Given the description of an element on the screen output the (x, y) to click on. 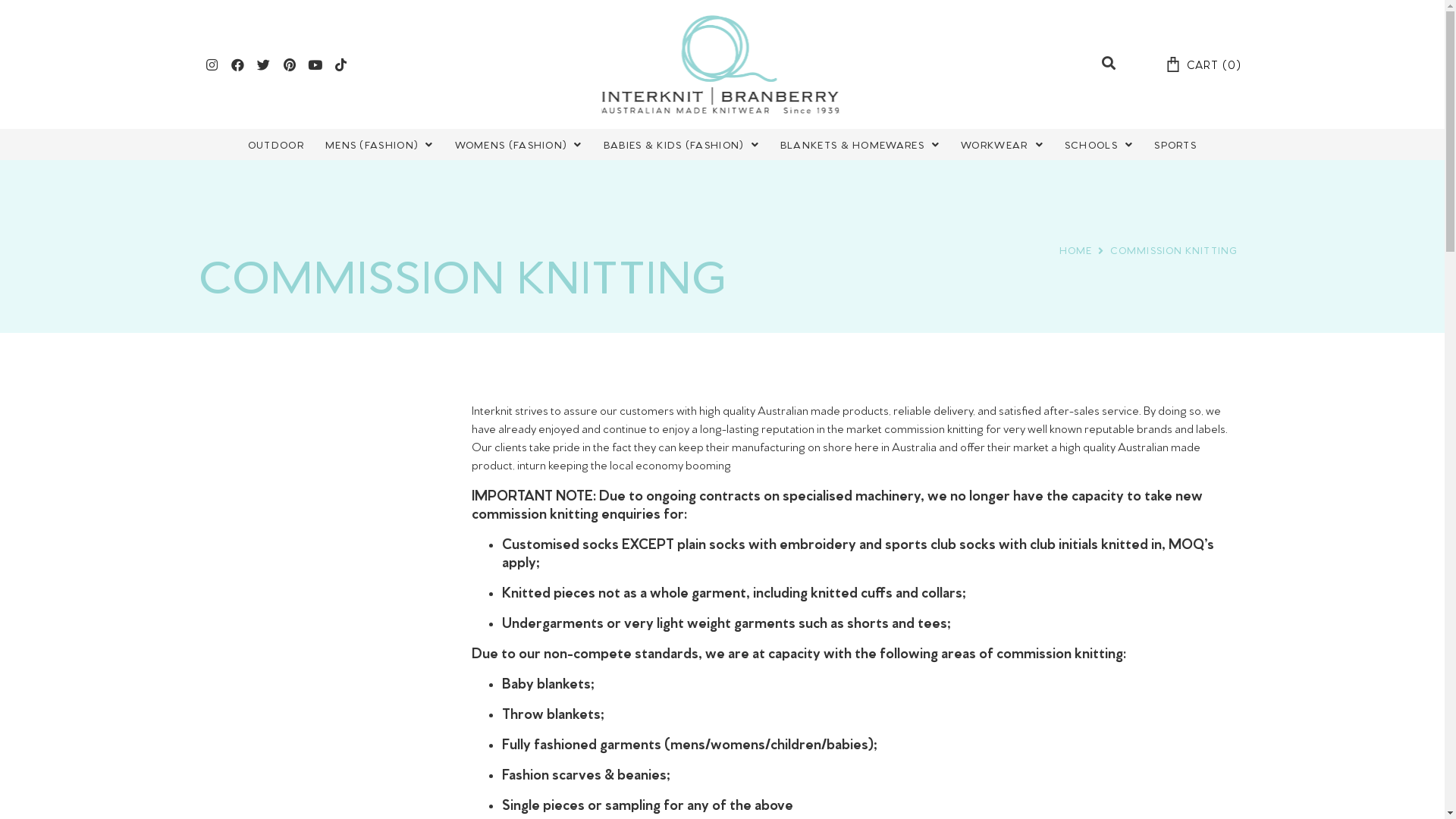
BLANKETS & HOMEWARES Element type: text (859, 144)
BABIES & KIDS (FASHION) Element type: text (681, 144)
SPORTS Element type: text (1175, 144)
HOME Element type: text (1075, 249)
WOMENS (FASHION) Element type: text (518, 144)
OUTDOOR Element type: text (275, 144)
SCHOOLS Element type: text (1098, 144)
MENS (FASHION) Element type: text (379, 144)
WORKWEAR Element type: text (1002, 144)
CART
(0) Element type: text (1203, 64)
